Given the description of an element on the screen output the (x, y) to click on. 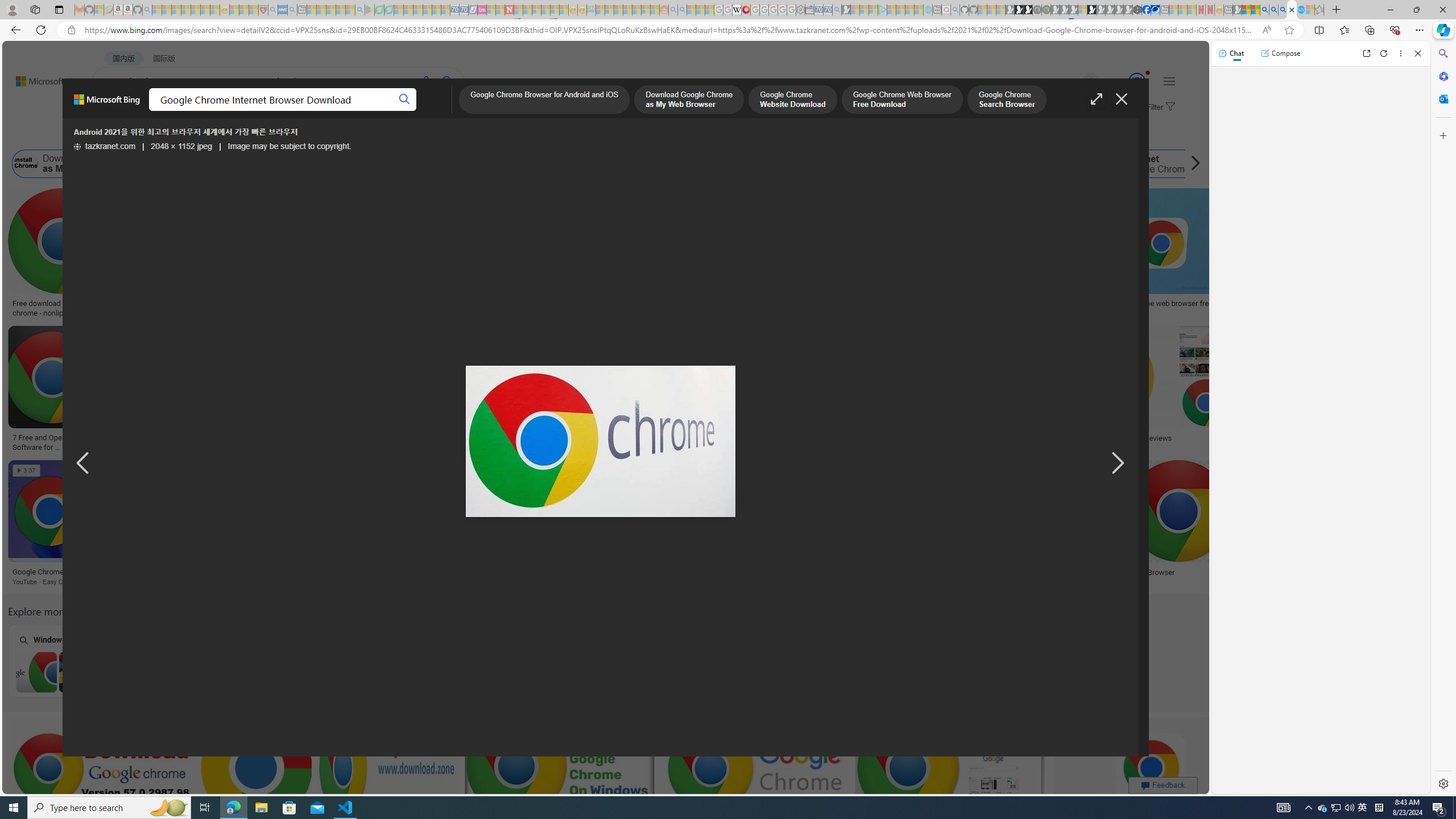
Google Chrome Fast Download (1035, 163)
Color (173, 135)
Google Chrome Web Browser Free Download (308, 163)
What Is The Fastest Browser To Use With Windows 10Save (1037, 524)
Type (212, 135)
How to download & install Chrome on Windows 10 /11Save (1000, 254)
Download Google Chrome As My Web BrowserSave (283, 524)
